Given the description of an element on the screen output the (x, y) to click on. 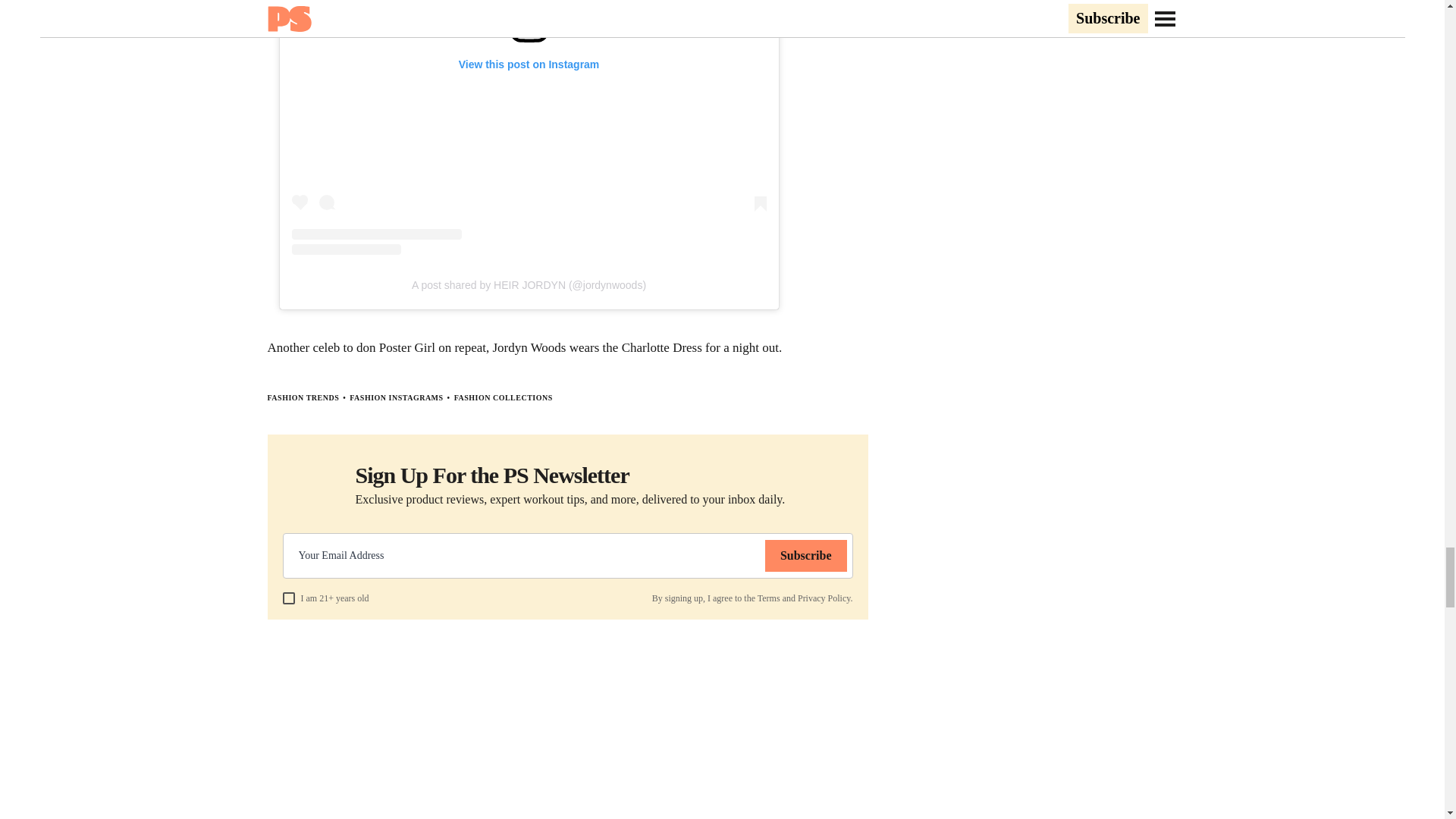
View this post on Instagram (528, 127)
Terms (768, 597)
FASHION INSTAGRAMS (395, 397)
Privacy Policy. (825, 597)
FASHION COLLECTIONS (503, 397)
Subscribe (806, 555)
FASHION TRENDS (302, 397)
